Given the description of an element on the screen output the (x, y) to click on. 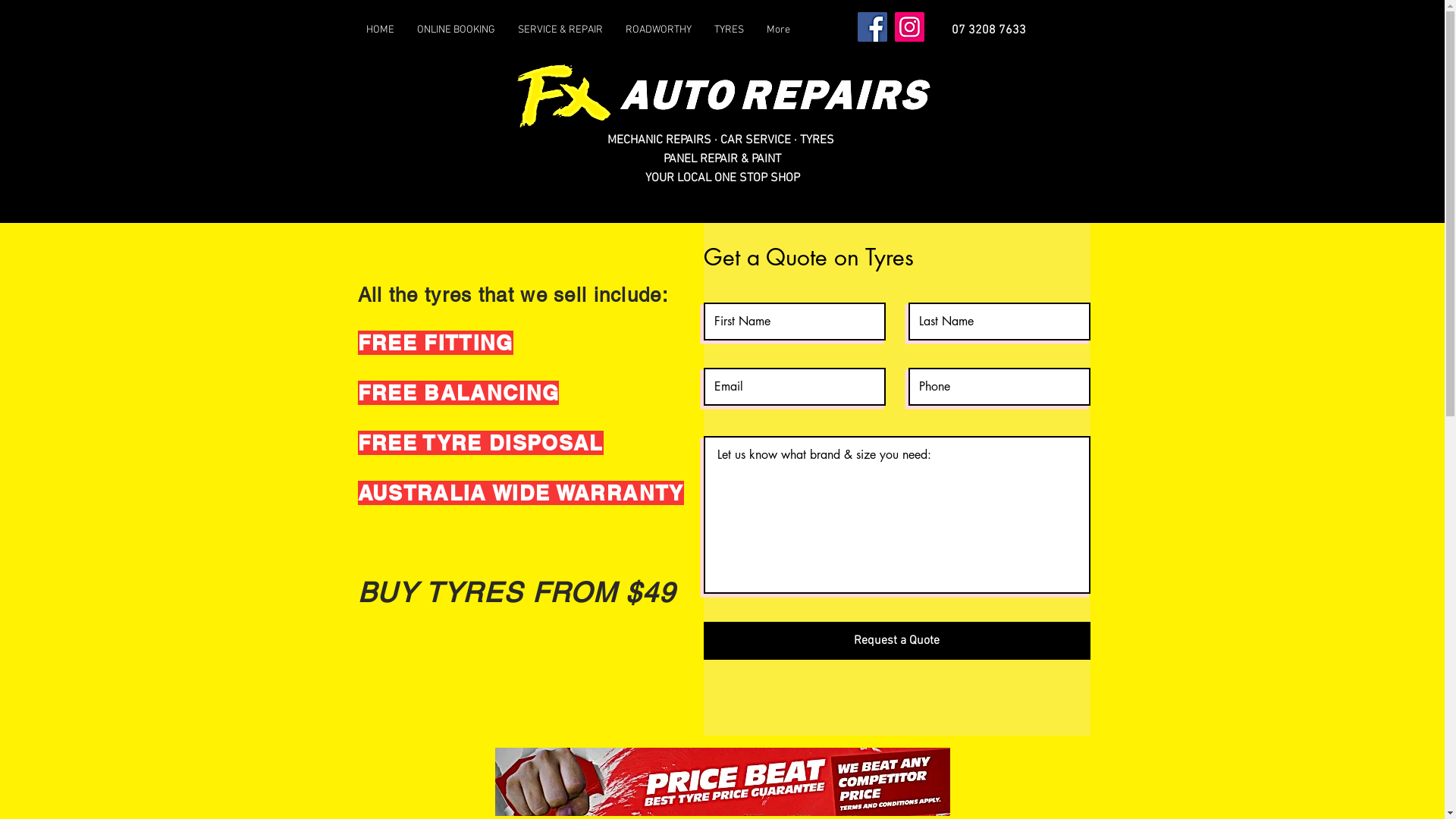
SERVICE & REPAIR Element type: text (560, 29)
ROADWORTHY Element type: text (658, 29)
Request a Quote Element type: text (896, 640)
ONLINE BOOKING Element type: text (454, 29)
TYRES Element type: text (728, 29)
HOME Element type: text (379, 29)
